Given the description of an element on the screen output the (x, y) to click on. 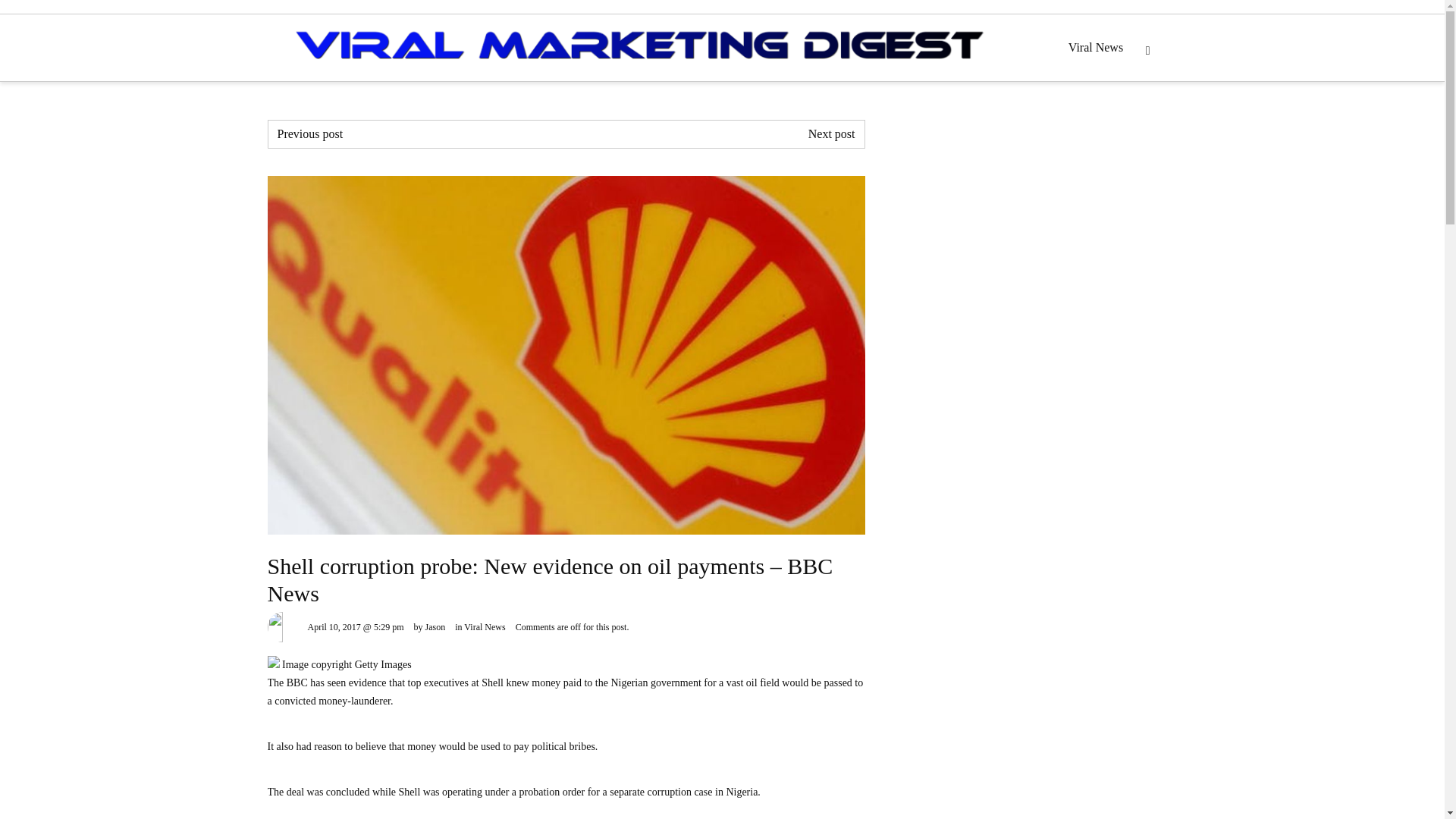
Next post (832, 133)
Jason (435, 626)
Viral News (484, 626)
Viral News (1095, 47)
Previous post (310, 133)
Waiting for the new new thing (310, 133)
